Given the description of an element on the screen output the (x, y) to click on. 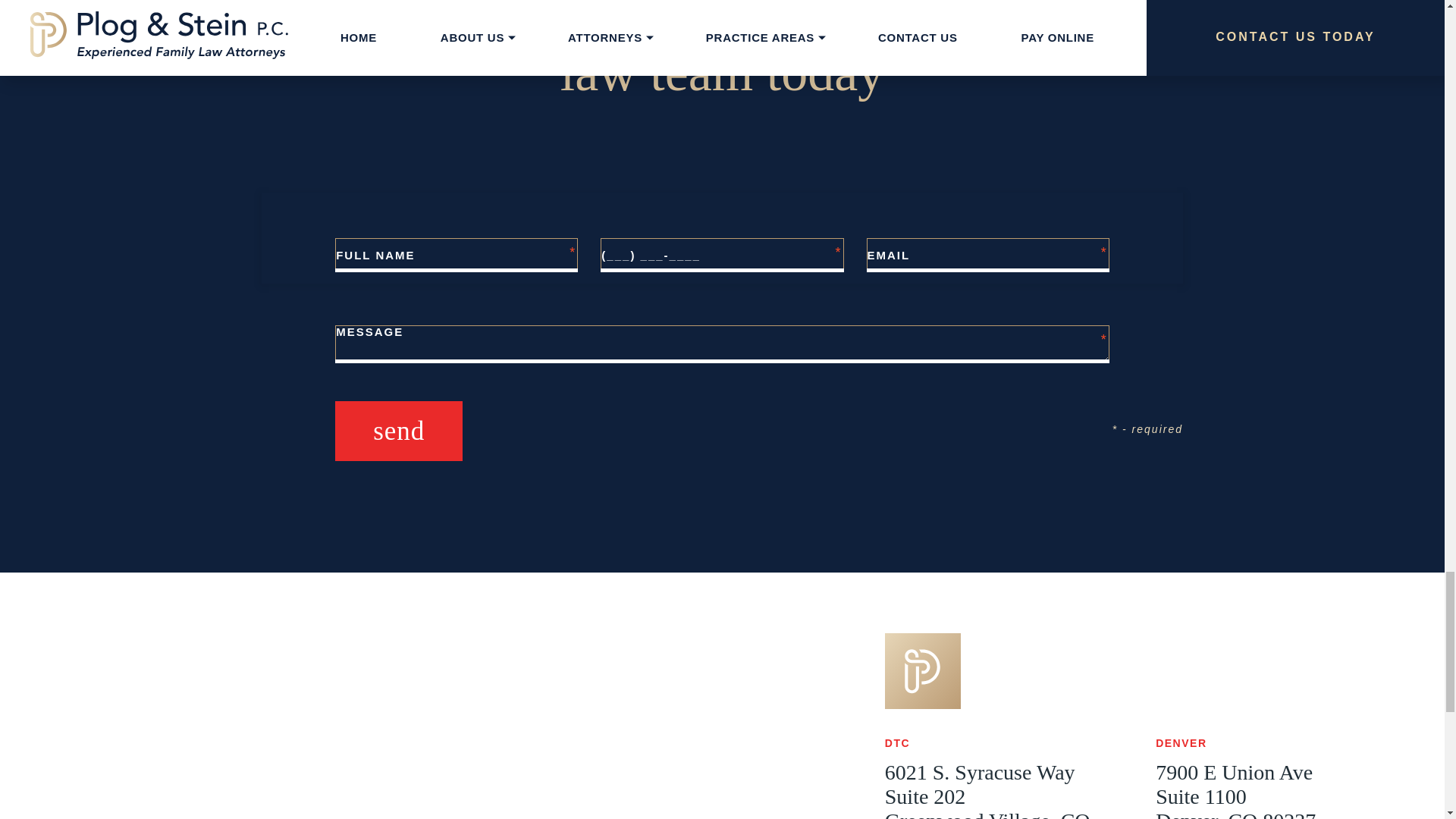
Send (398, 431)
